Given the description of an element on the screen output the (x, y) to click on. 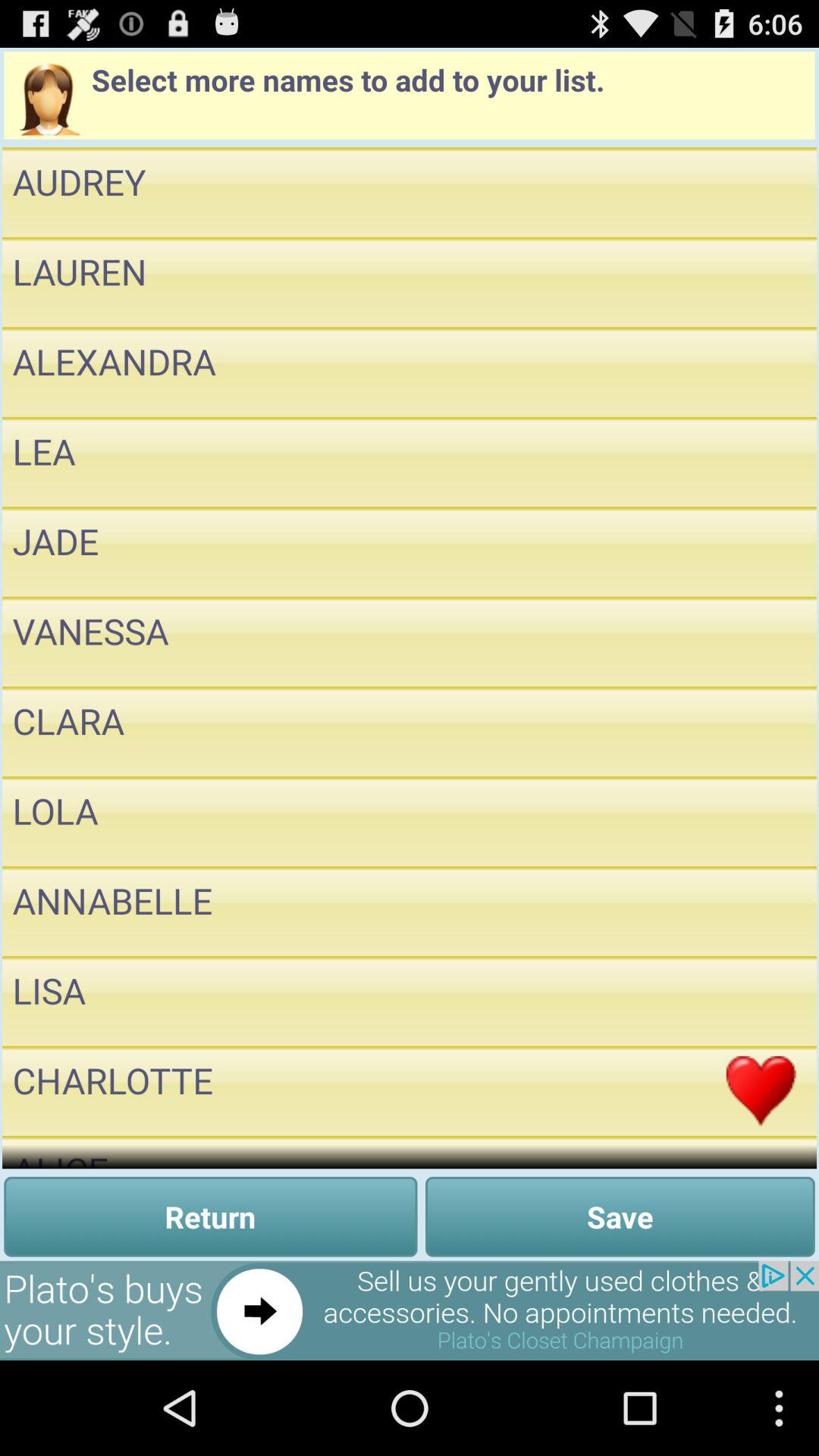
add name to list (761, 551)
